Given the description of an element on the screen output the (x, y) to click on. 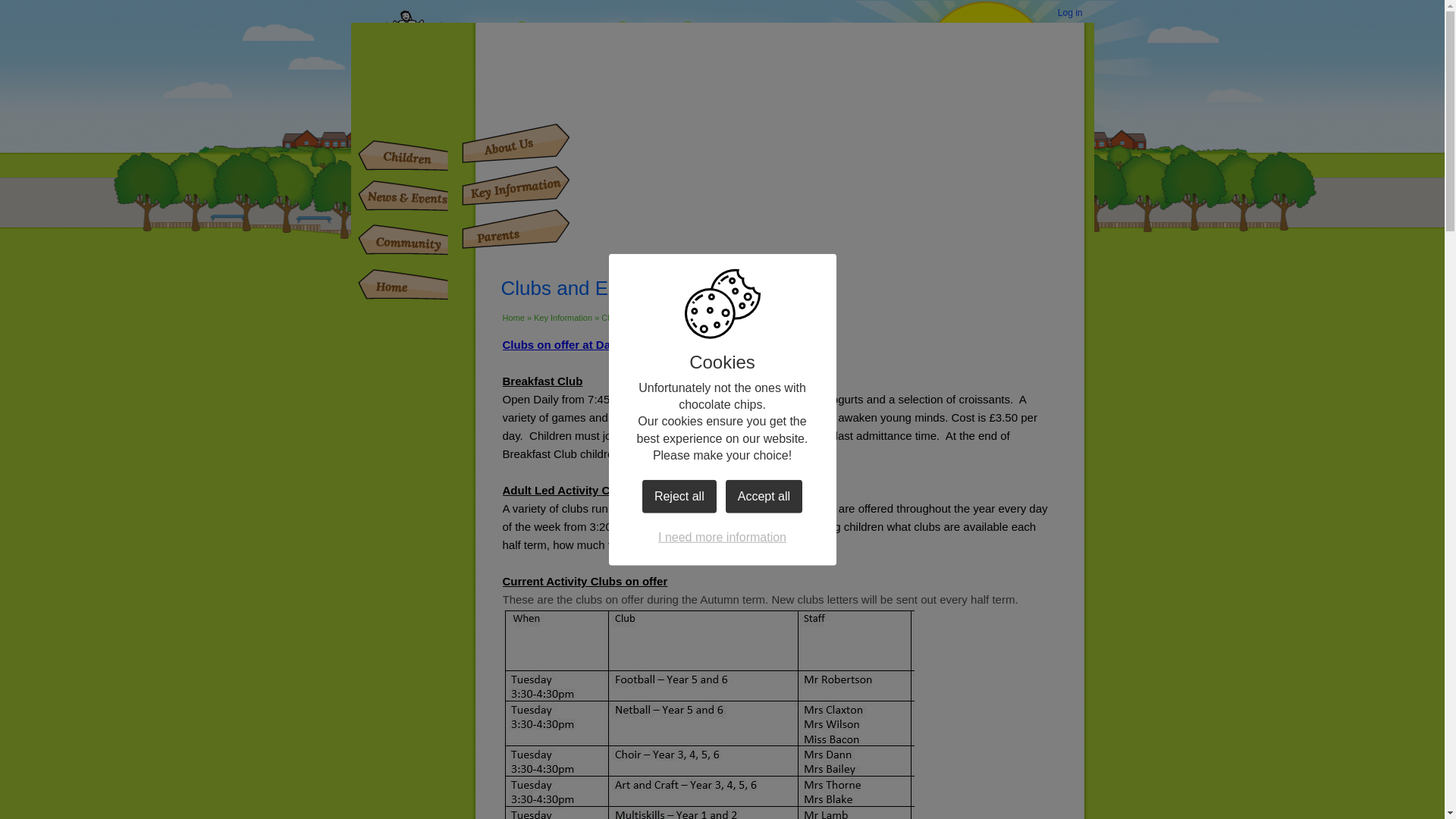
About Us (512, 142)
Home Page (563, 60)
Key Information (563, 317)
Home Page (563, 60)
Home (513, 317)
Home (391, 284)
Log in (1070, 13)
Clubs and Extra-curricular activities (666, 317)
